Given the description of an element on the screen output the (x, y) to click on. 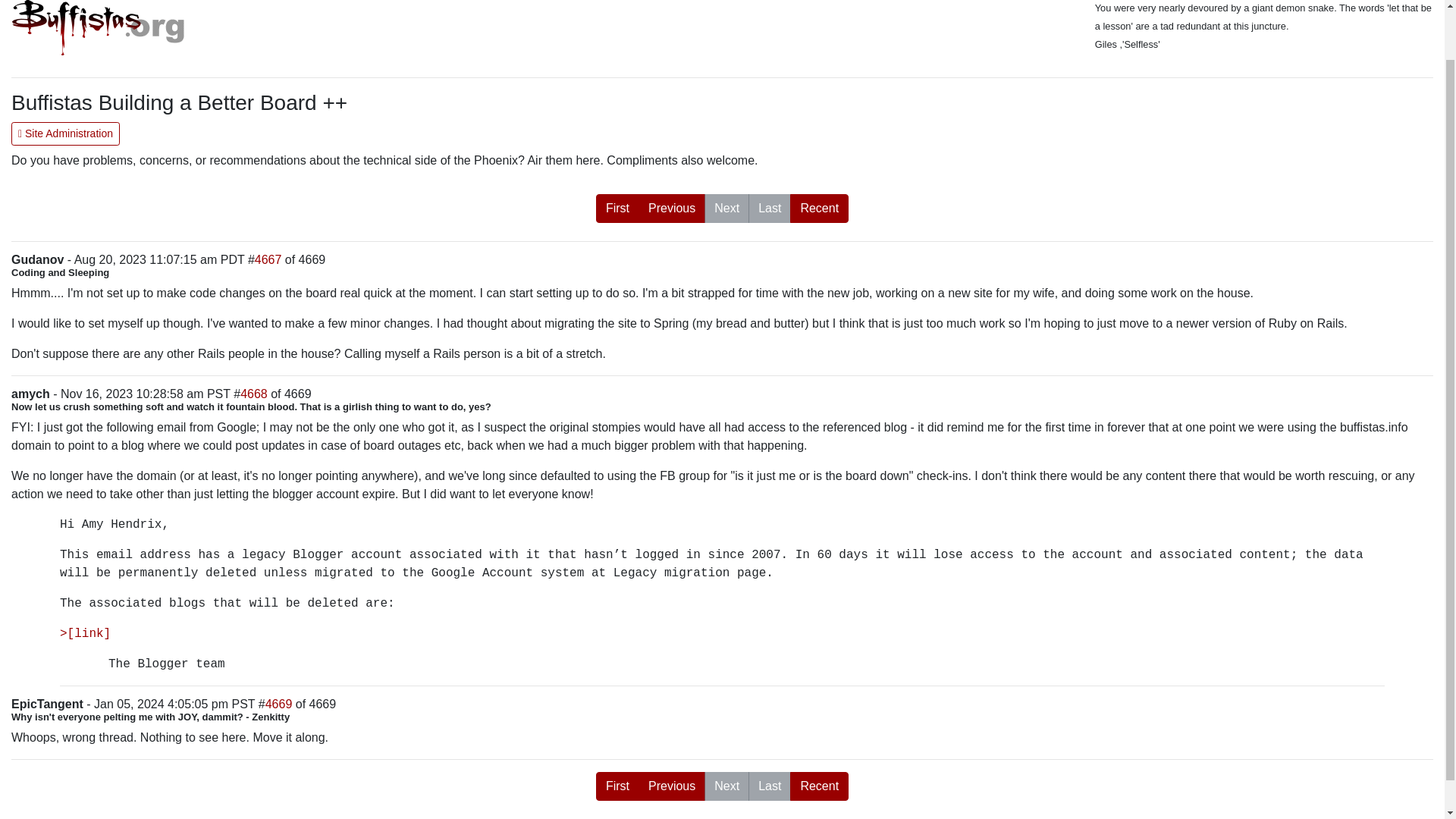
Last (769, 786)
4668 (253, 393)
4669 (278, 703)
Last (769, 208)
Site Administration (65, 133)
Recent (819, 208)
Previous (671, 208)
4667 (268, 259)
First (617, 208)
First (617, 786)
Recent (819, 786)
Previous (671, 786)
Next (726, 208)
Next (726, 786)
